Given the description of an element on the screen output the (x, y) to click on. 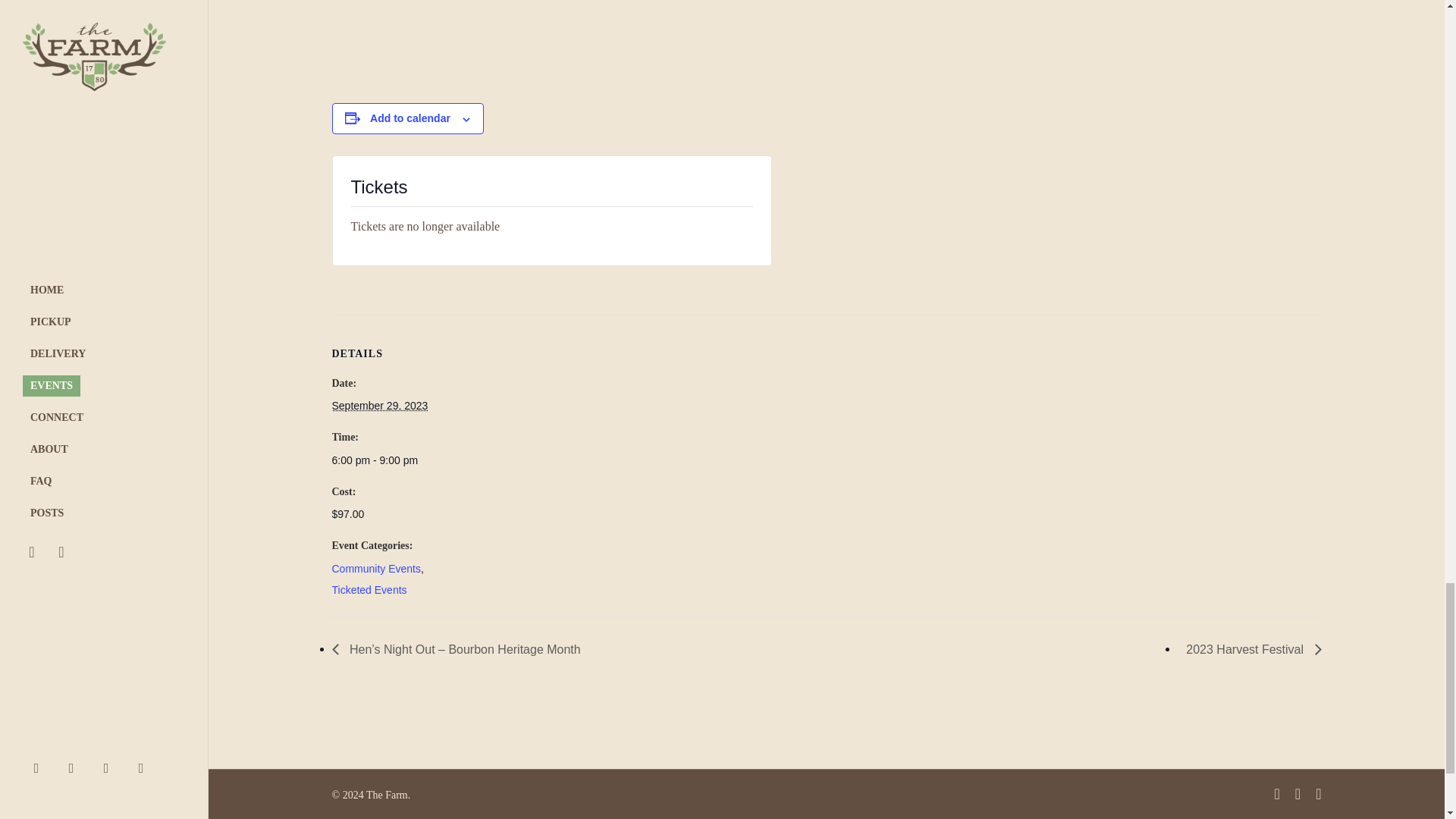
Ticketed Events (369, 589)
Add to calendar (409, 118)
Community Events (375, 568)
2023-09-29 (395, 460)
2023-09-29 (379, 405)
2023 Harvest Festival (1248, 649)
